Given the description of an element on the screen output the (x, y) to click on. 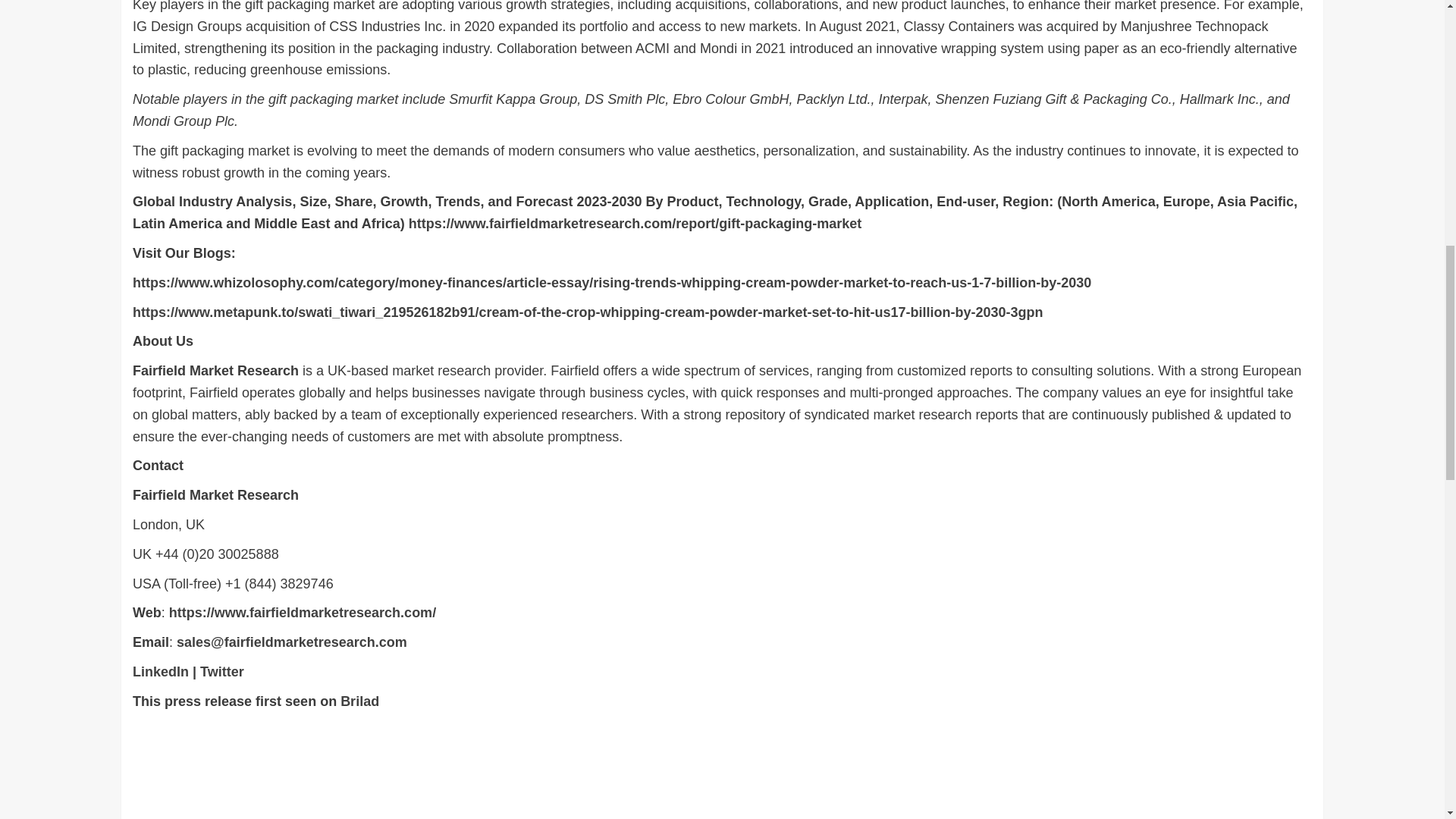
Twitter (222, 671)
LinkedIn (160, 671)
Brilad (359, 701)
